Given the description of an element on the screen output the (x, y) to click on. 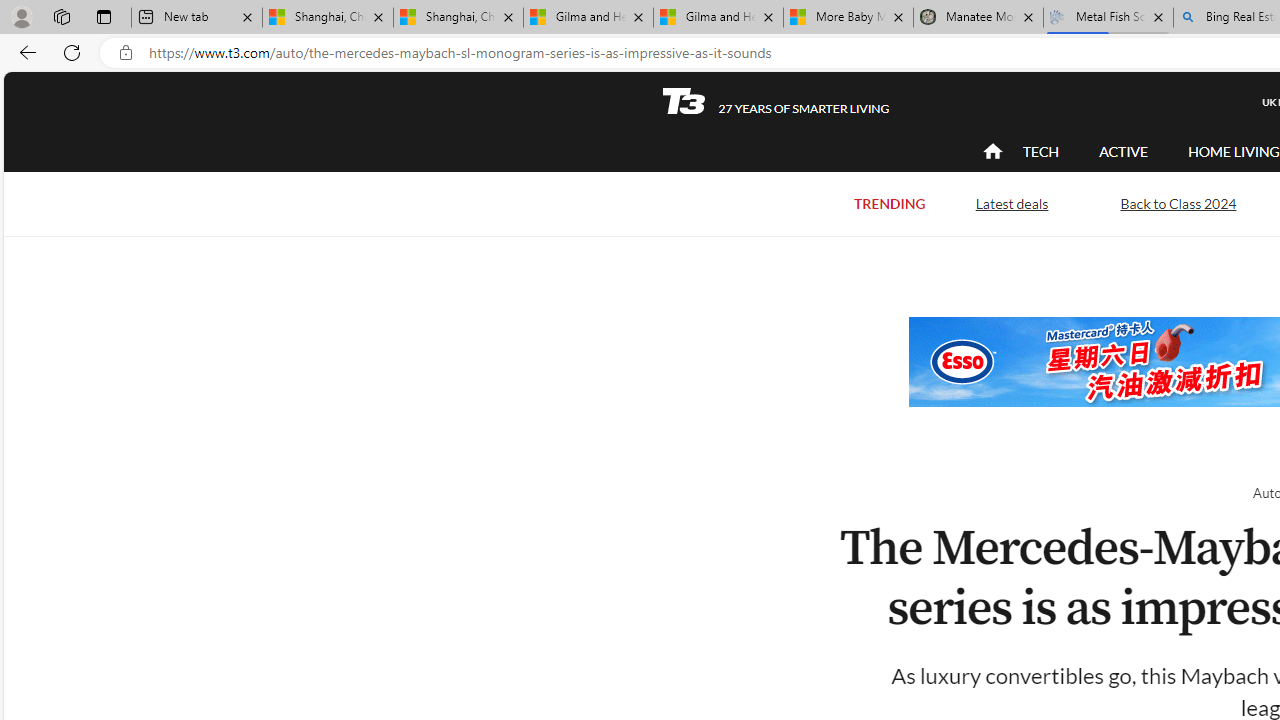
TECH (1040, 151)
HOME LIVING (1233, 151)
ACTIVE (1124, 151)
T3 27 YEARS OF SMARTER LIVING (775, 101)
Latest deals (1011, 202)
Latest deals (1011, 204)
Manatee Mortality Statistics | FWC (978, 17)
